Given the description of an element on the screen output the (x, y) to click on. 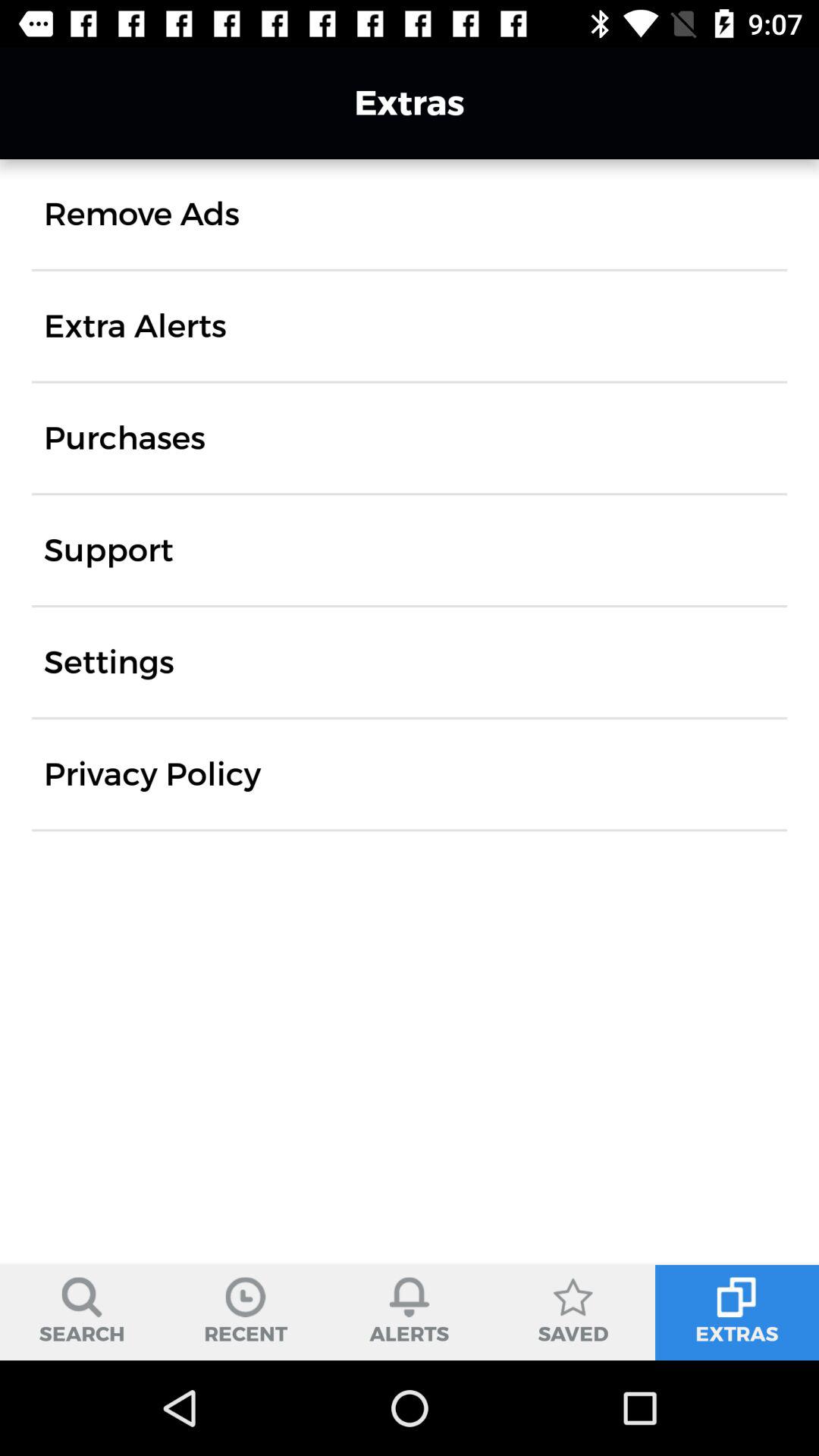
tap the remove ads icon (141, 214)
